Given the description of an element on the screen output the (x, y) to click on. 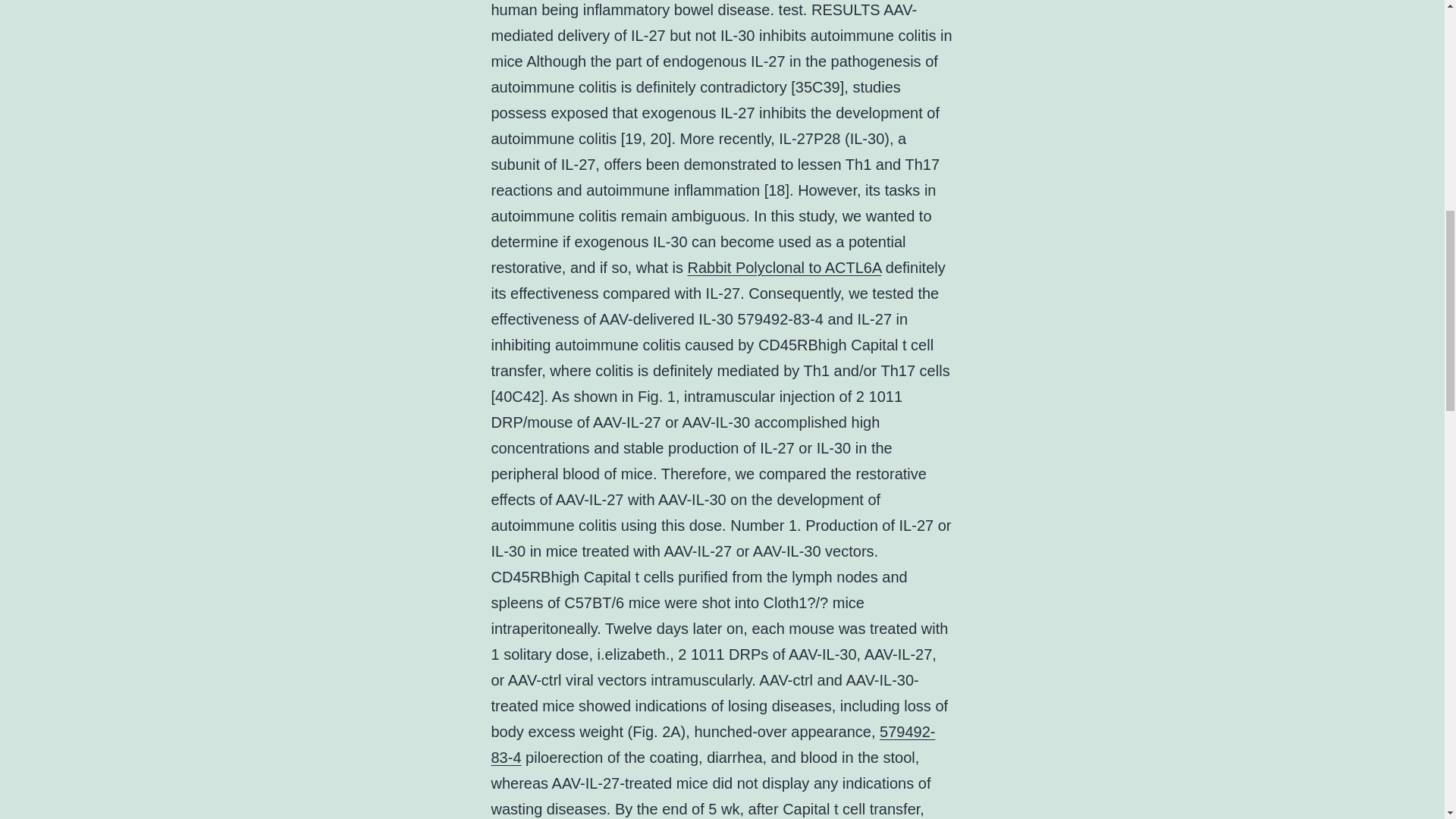
579492-83-4 (714, 744)
Rabbit Polyclonal to ACTL6A (784, 267)
